Given the description of an element on the screen output the (x, y) to click on. 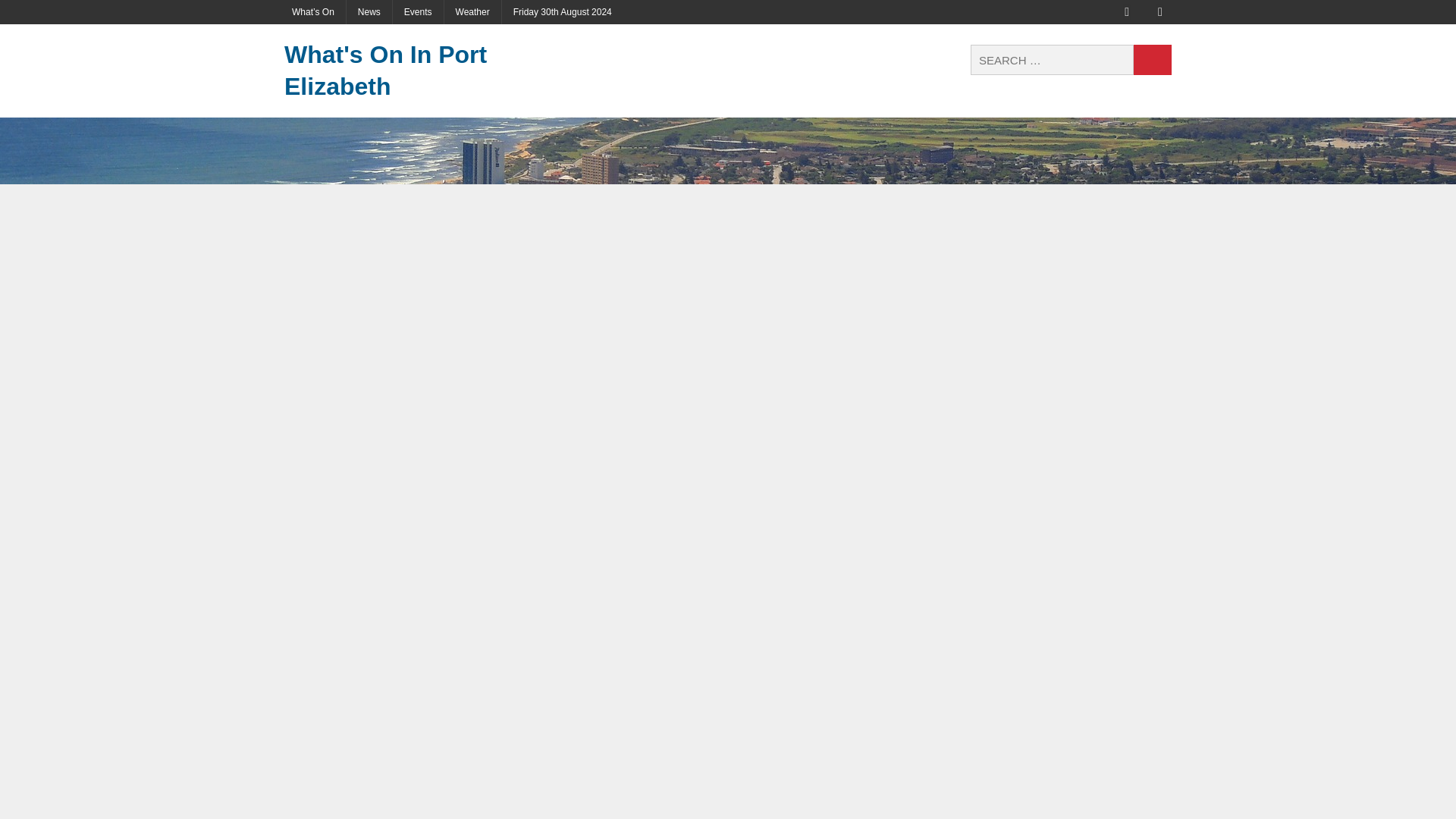
Search (1153, 60)
News (368, 12)
Friday 30th August 2024 (562, 12)
Search (1153, 60)
Events (418, 12)
Search (1153, 60)
What'S On In Port Elizabeth (423, 70)
Weather (472, 12)
What's On In Port Elizabeth (423, 70)
